Given the description of an element on the screen output the (x, y) to click on. 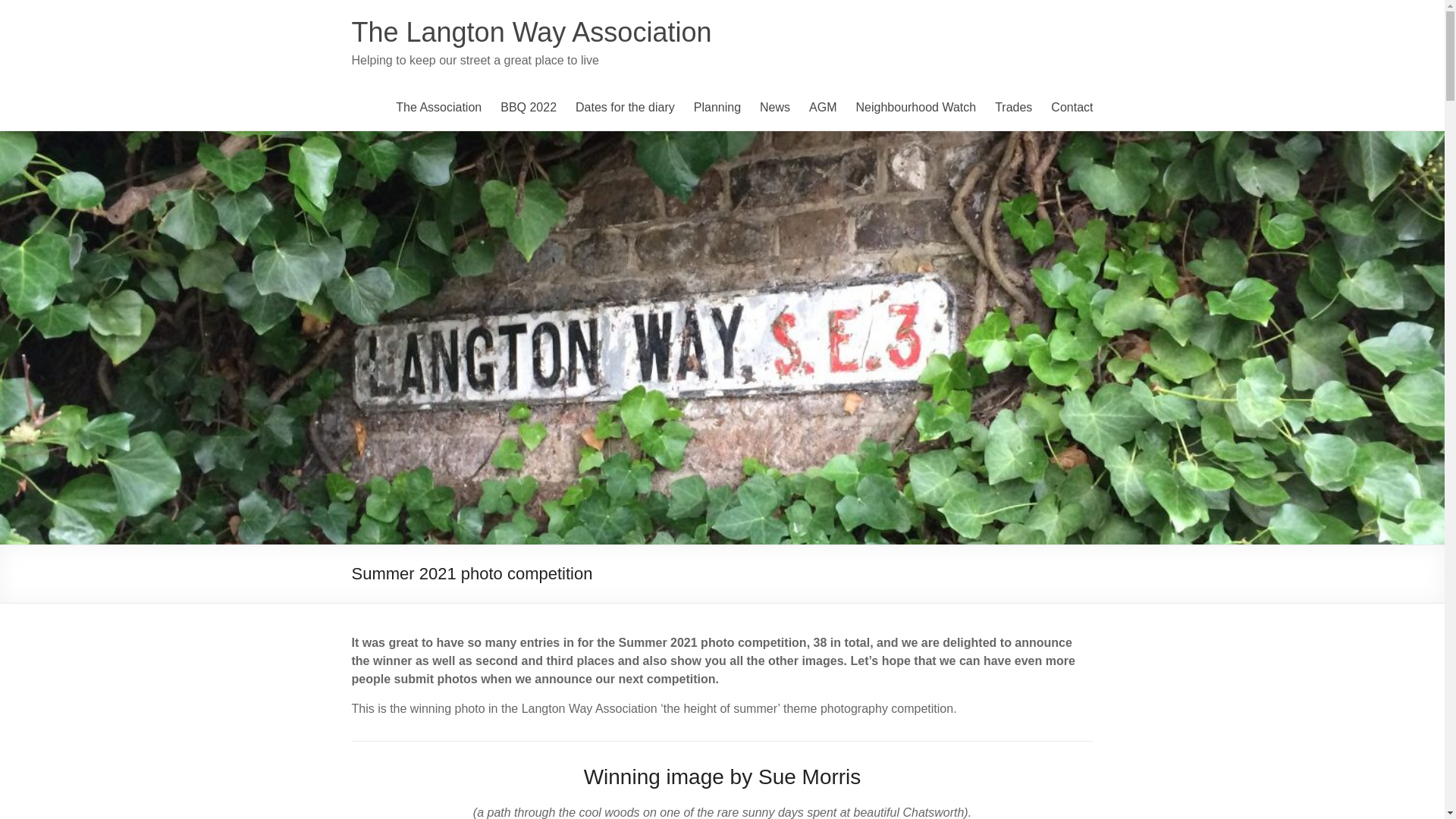
AGM (822, 107)
Dates for the diary (625, 107)
BBQ 2022 (528, 107)
Planning (717, 107)
The Association (438, 107)
The Langton Way Association (531, 31)
Trades (1013, 107)
News (775, 107)
The Langton Way Association (531, 31)
Contact (1072, 107)
